Given the description of an element on the screen output the (x, y) to click on. 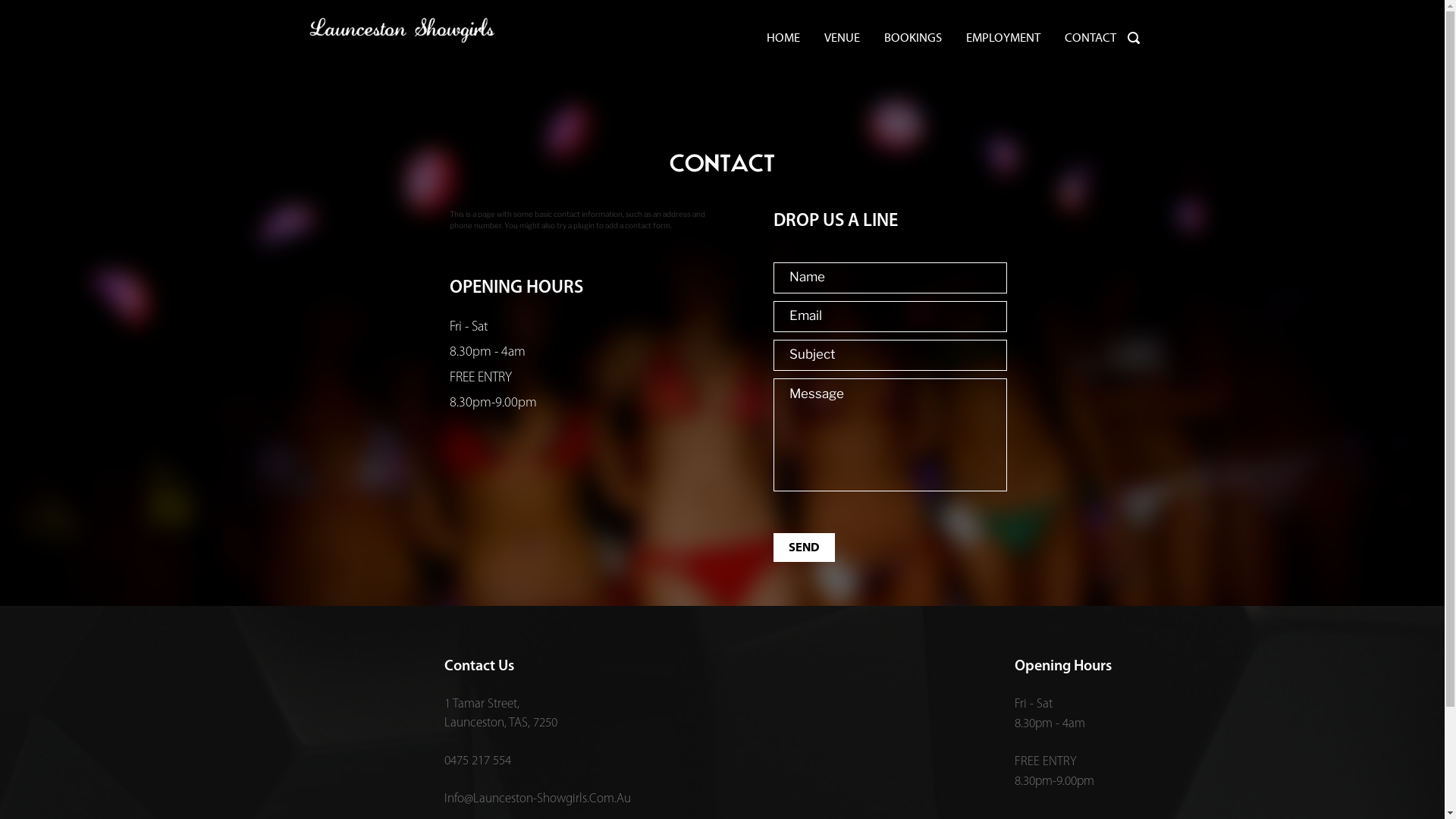
Info@Launceston-Showgirls.Com.Au Element type: text (537, 798)
VENUE Element type: text (841, 37)
HOME Element type: text (783, 37)
CONTACT Element type: text (1089, 37)
EMPLOYMENT Element type: text (1002, 37)
Send Element type: text (803, 547)
BOOKINGS Element type: text (912, 37)
search Element type: text (1132, 37)
